Given the description of an element on the screen output the (x, y) to click on. 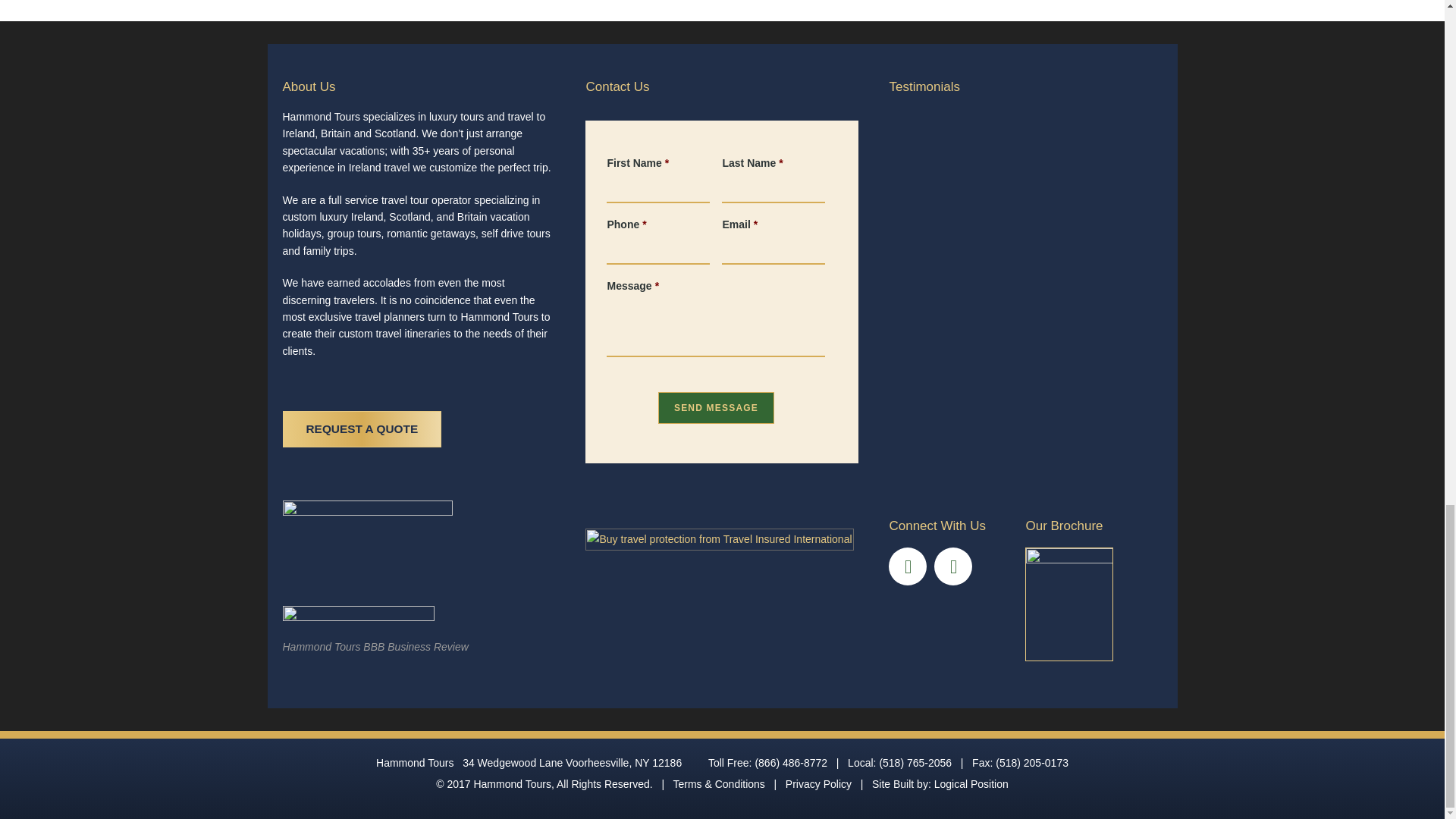
Send Message (716, 408)
